Given the description of an element on the screen output the (x, y) to click on. 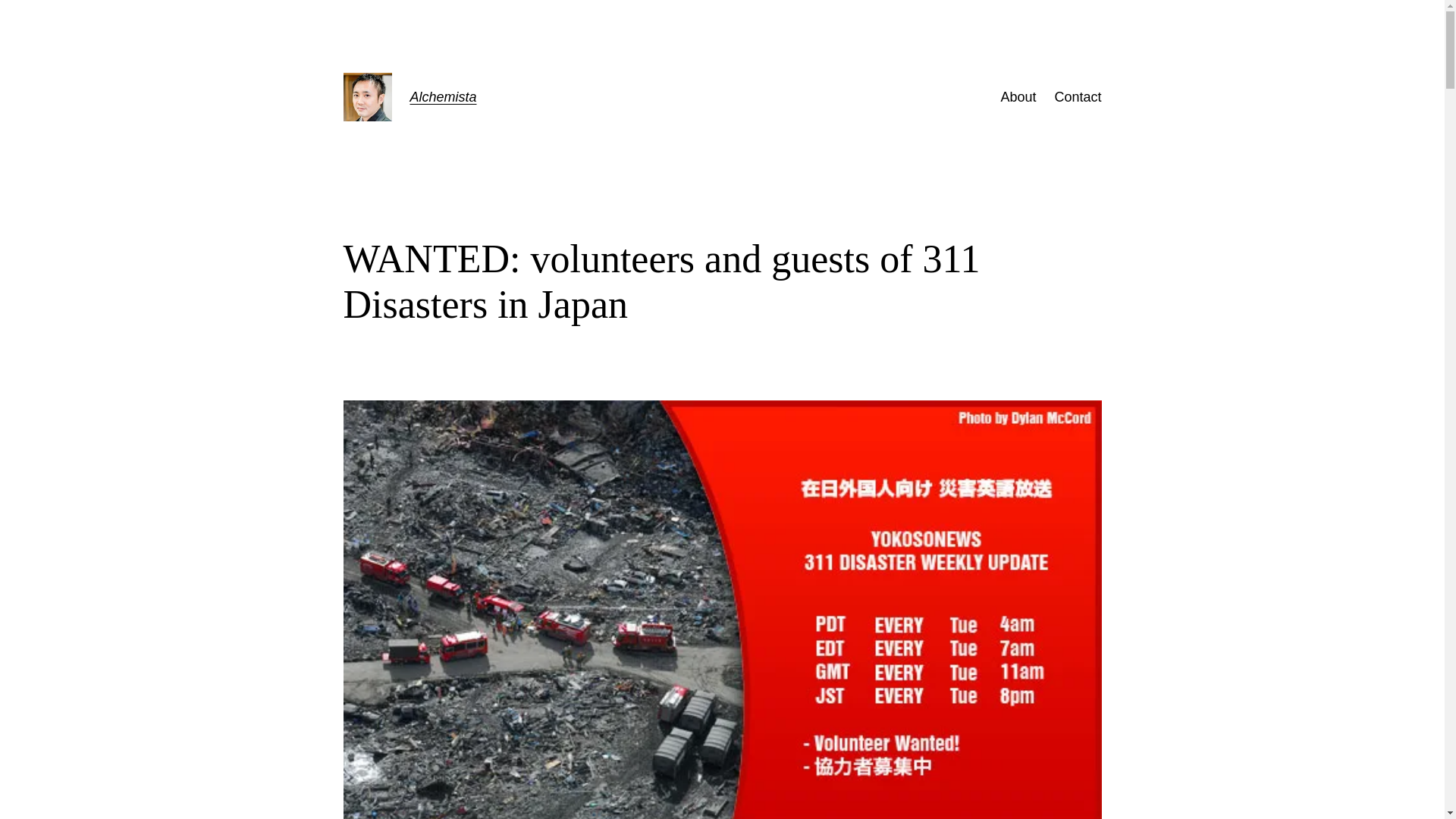
About (1017, 97)
Contact (1077, 97)
Alchemista (442, 96)
